Given the description of an element on the screen output the (x, y) to click on. 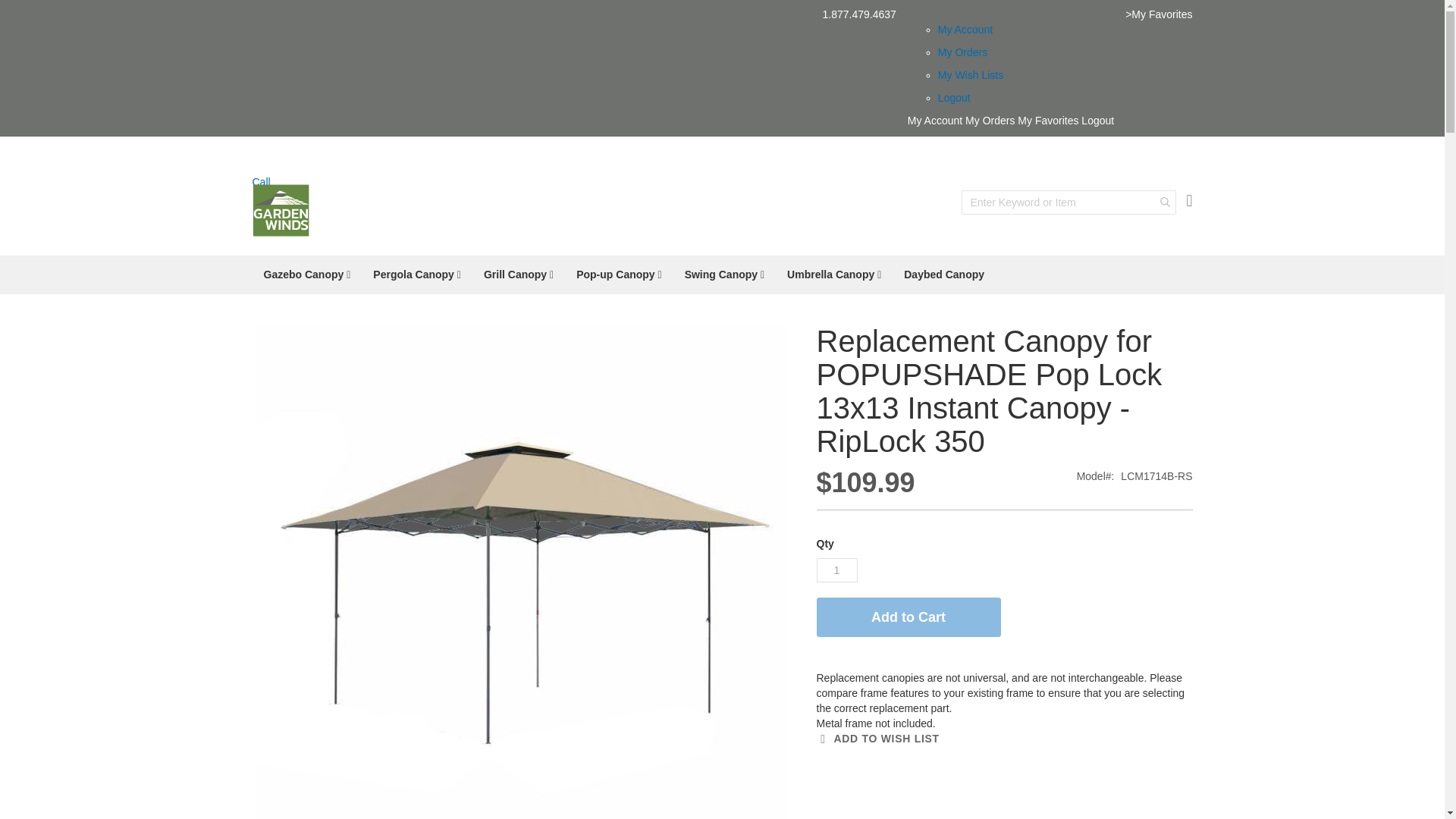
Call (721, 189)
My Account (934, 120)
Logout (954, 97)
My Orders (989, 120)
Qty (836, 569)
Logout (1097, 120)
My Account (964, 29)
1.877.479.4637 (859, 14)
My Favorites (1047, 120)
Gazebo Canopy (306, 274)
My Wish Lists (970, 74)
GardenWinds.com: The Premier Home and Garden Retailer (279, 210)
1 (836, 569)
Add to Cart (907, 617)
My Orders (962, 51)
